Given the description of an element on the screen output the (x, y) to click on. 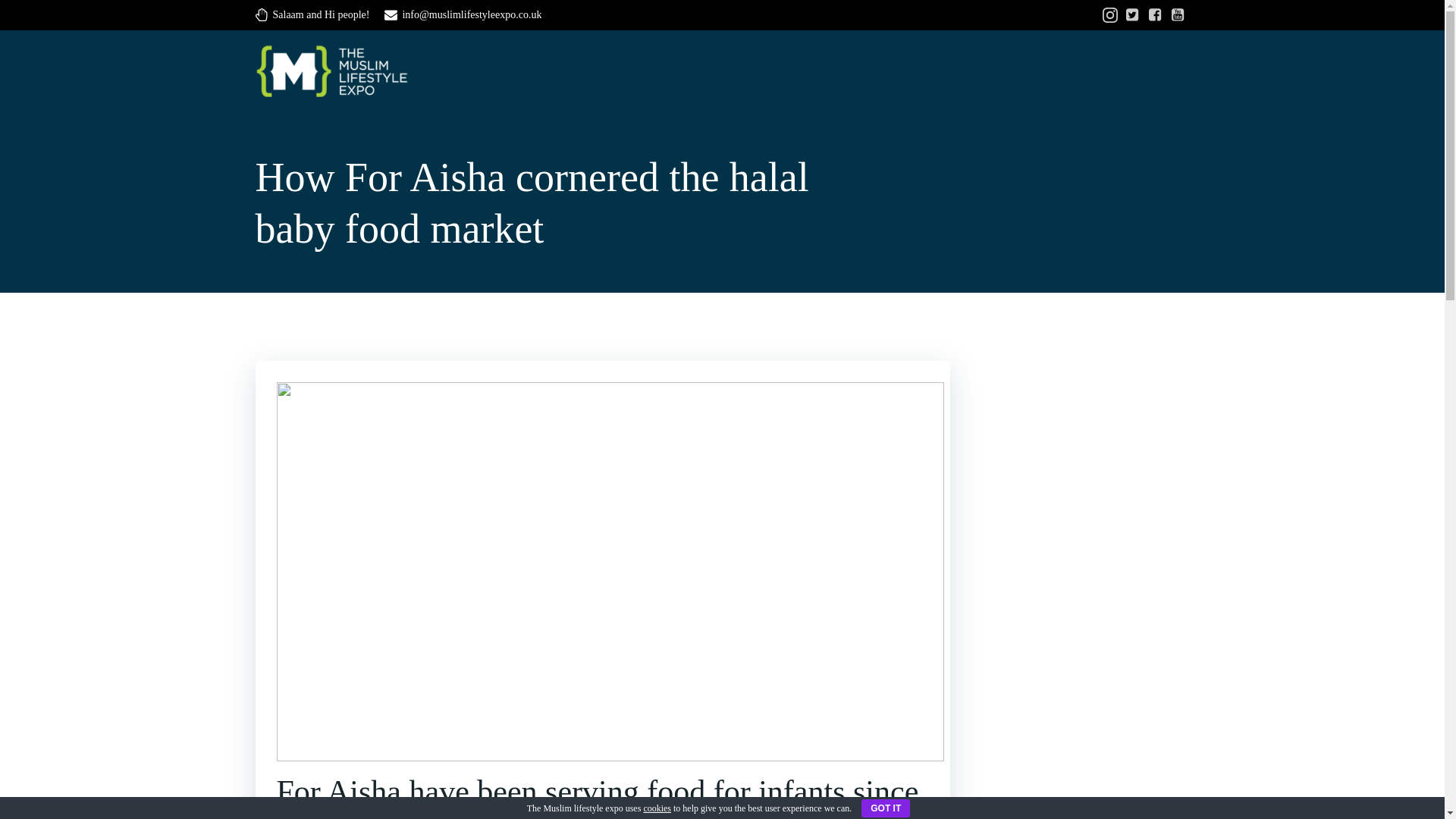
cookies (657, 808)
GOT IT (885, 808)
Salaam and Hi people! (311, 15)
